Given the description of an element on the screen output the (x, y) to click on. 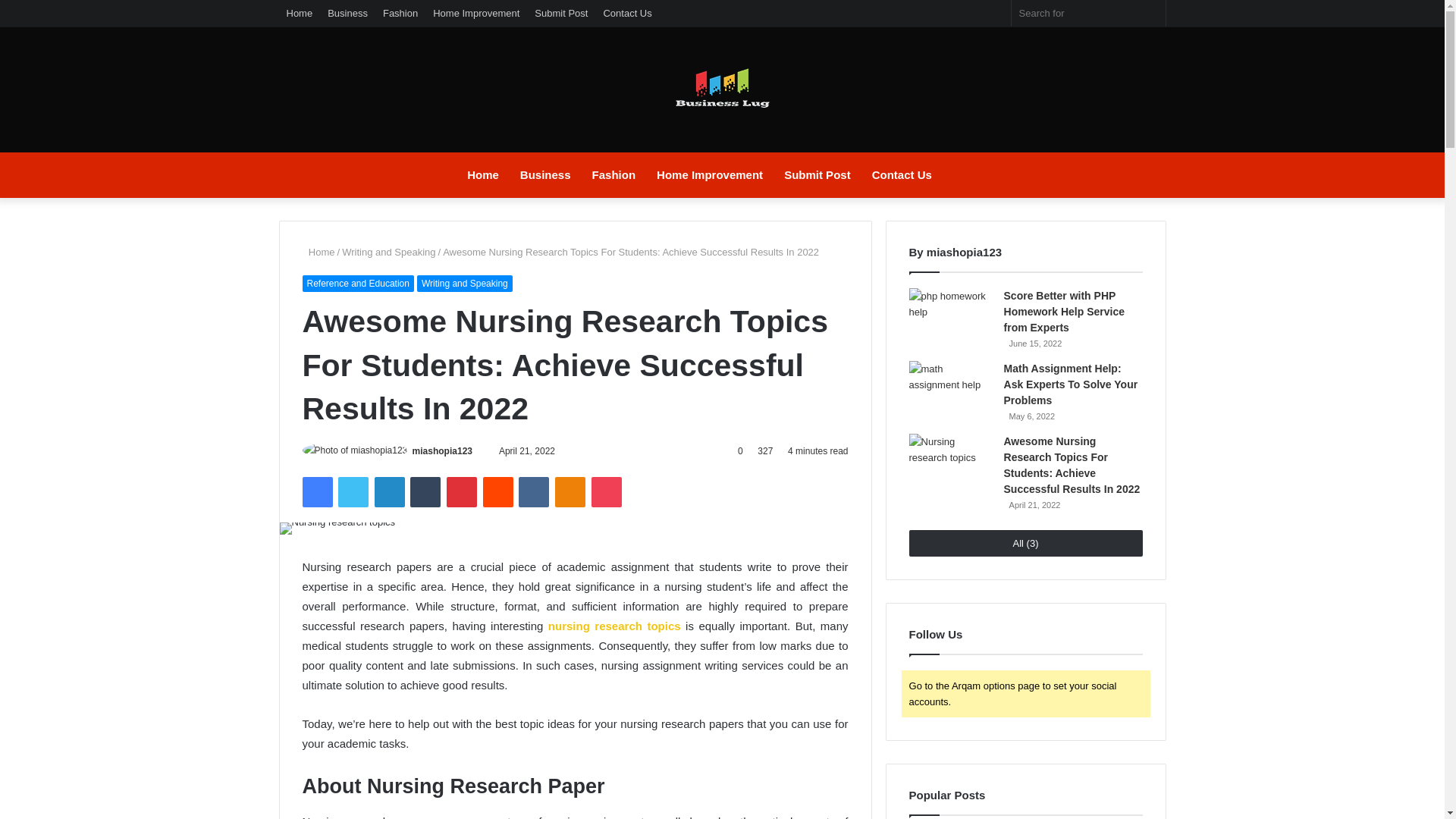
Pinterest (461, 491)
Home (483, 175)
Pinterest (461, 491)
Reference and Education (357, 283)
Tumblr (425, 491)
Home Improvement (476, 13)
Contact Us (901, 175)
Submit Post (817, 175)
Facebook (316, 491)
Search for (1149, 13)
